Given the description of an element on the screen output the (x, y) to click on. 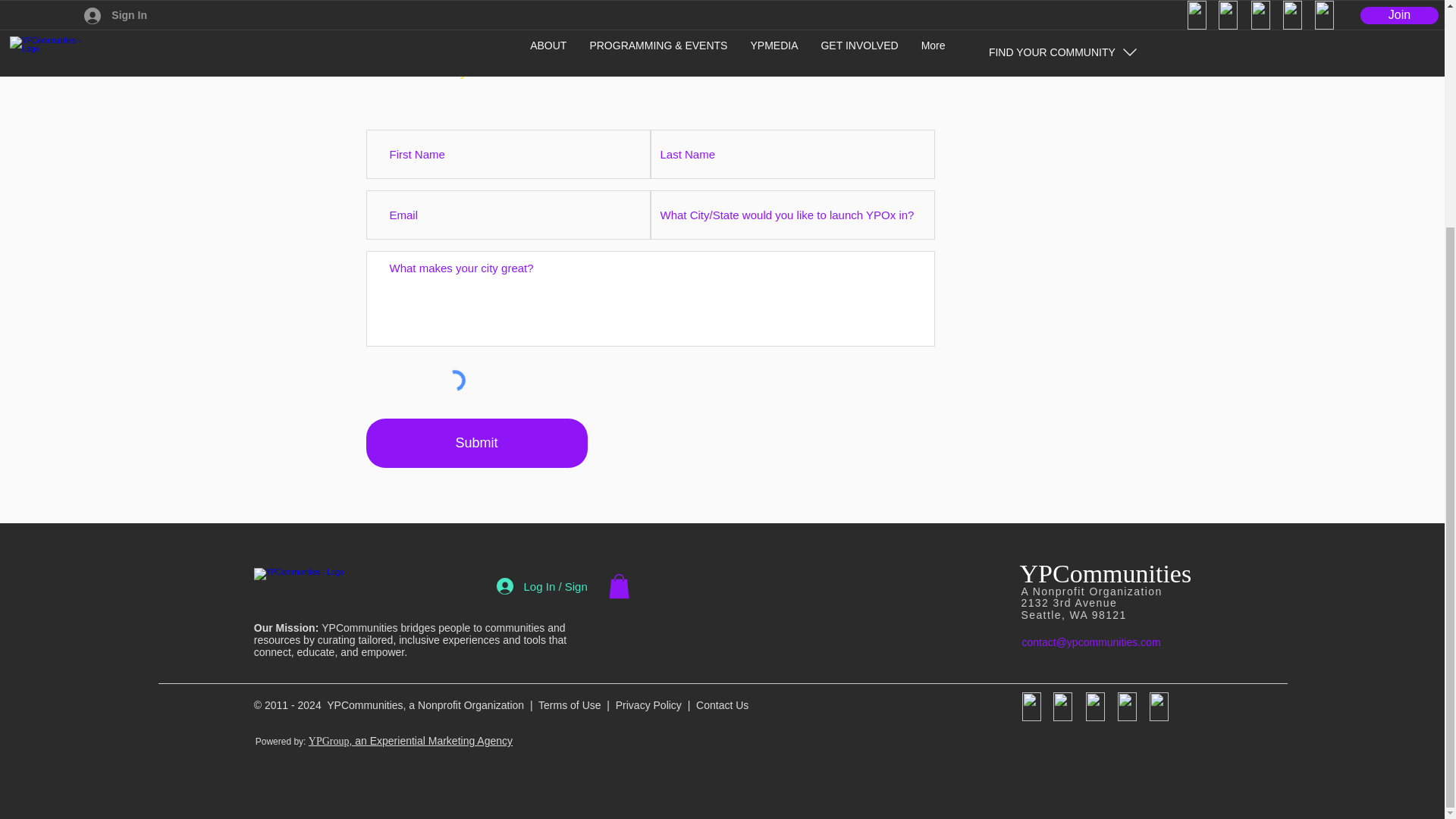
Submit (475, 442)
Terms of Use (568, 705)
Contact Us (721, 705)
YPGroup, an Experiential Marketing Agency (410, 740)
YPCommunities (1105, 573)
Privacy Policy (648, 705)
